Given the description of an element on the screen output the (x, y) to click on. 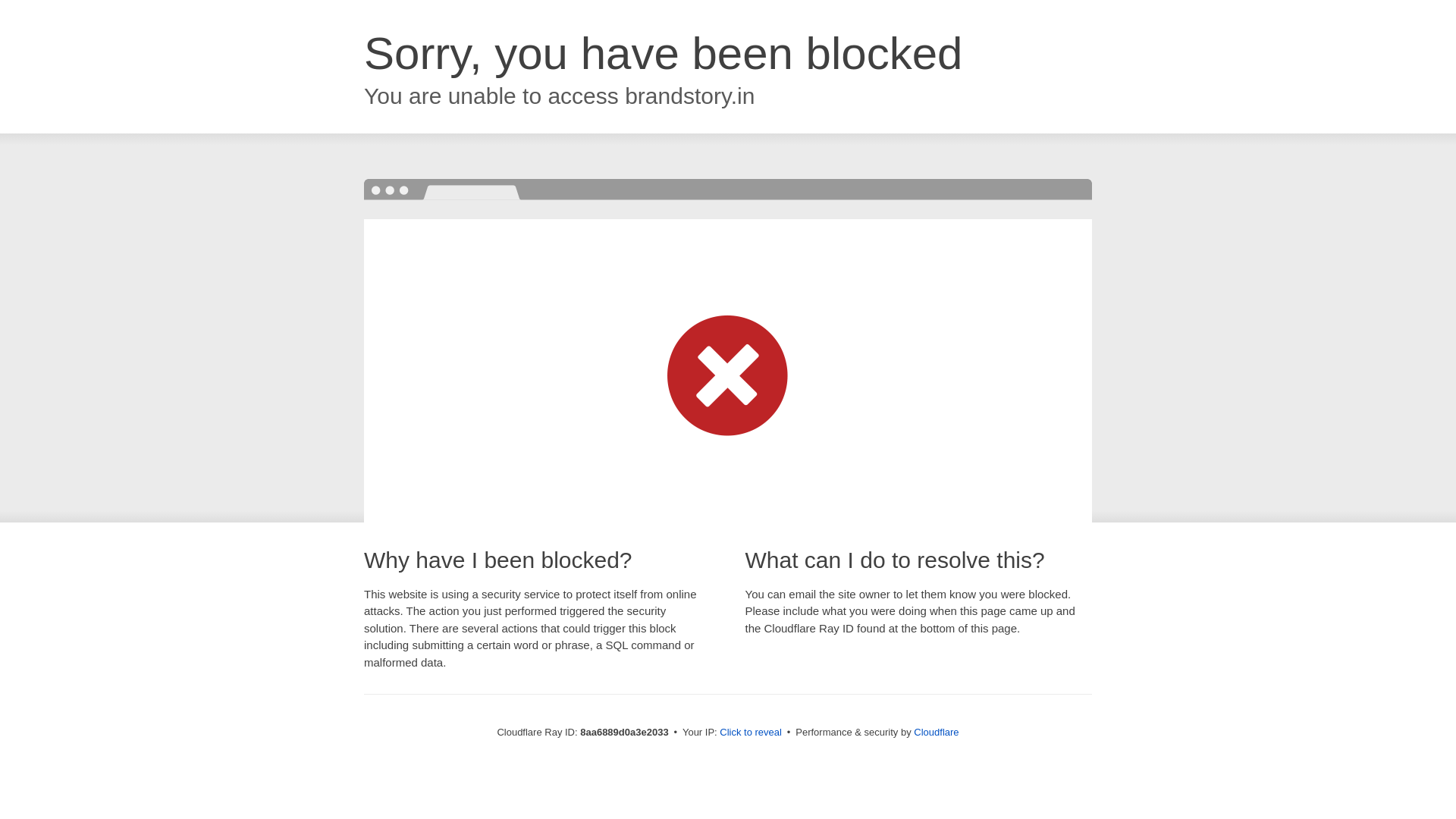
Cloudflare (936, 731)
Click to reveal (750, 732)
